Given the description of an element on the screen output the (x, y) to click on. 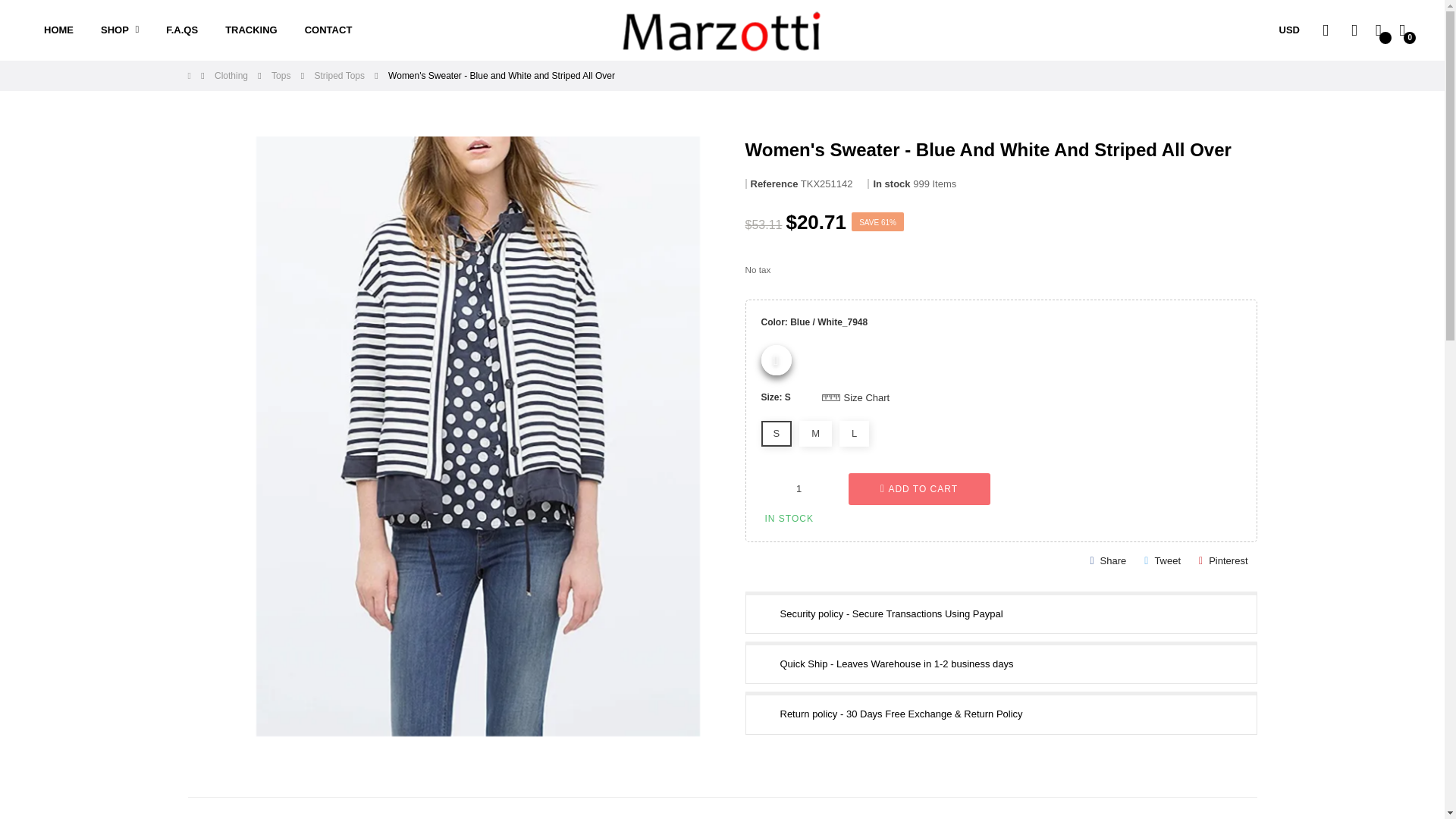
1 (799, 488)
SHOP (119, 30)
HOME (58, 30)
